Given the description of an element on the screen output the (x, y) to click on. 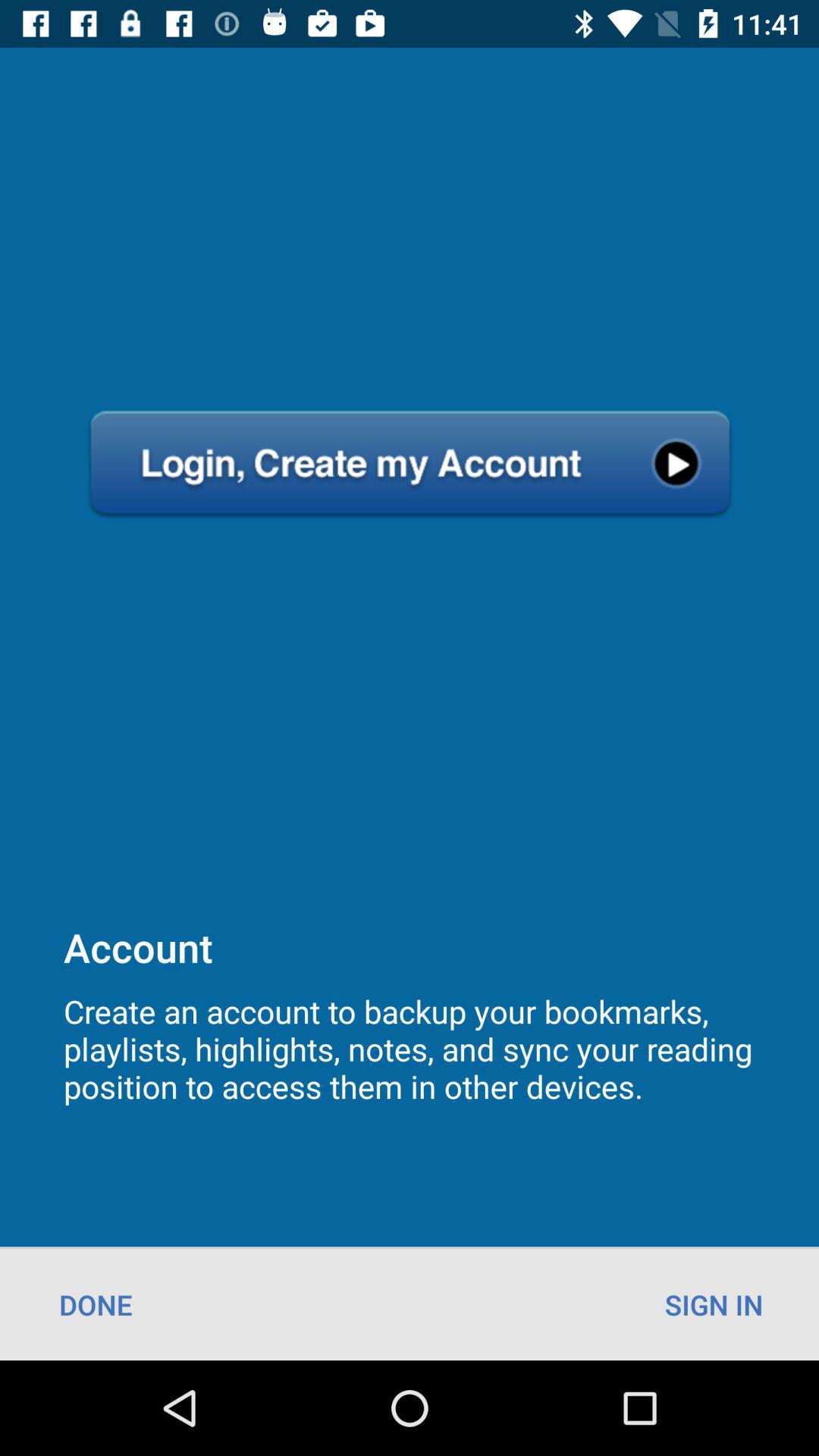
turn off the sign in at the bottom right corner (713, 1304)
